Given the description of an element on the screen output the (x, y) to click on. 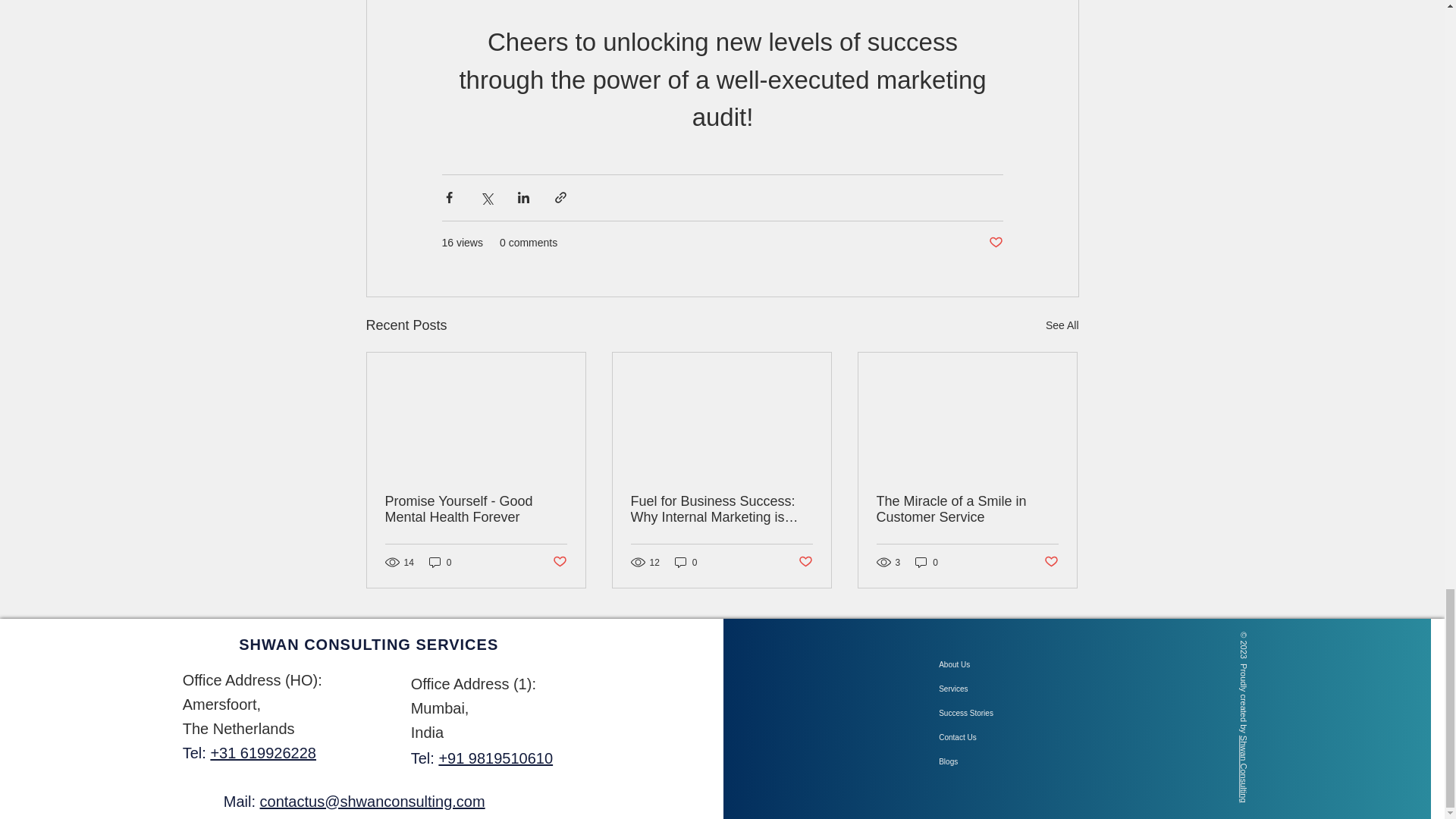
Post not marked as liked (558, 562)
The Miracle of a Smile in Customer Service (967, 509)
0 (685, 562)
0 (926, 562)
Post not marked as liked (1050, 562)
0 (440, 562)
Fuel for Business Success: Why Internal Marketing is Crucial (721, 509)
See All (1061, 325)
Promise Yourself - Good Mental Health Forever (476, 509)
Post not marked as liked (995, 242)
